Given the description of an element on the screen output the (x, y) to click on. 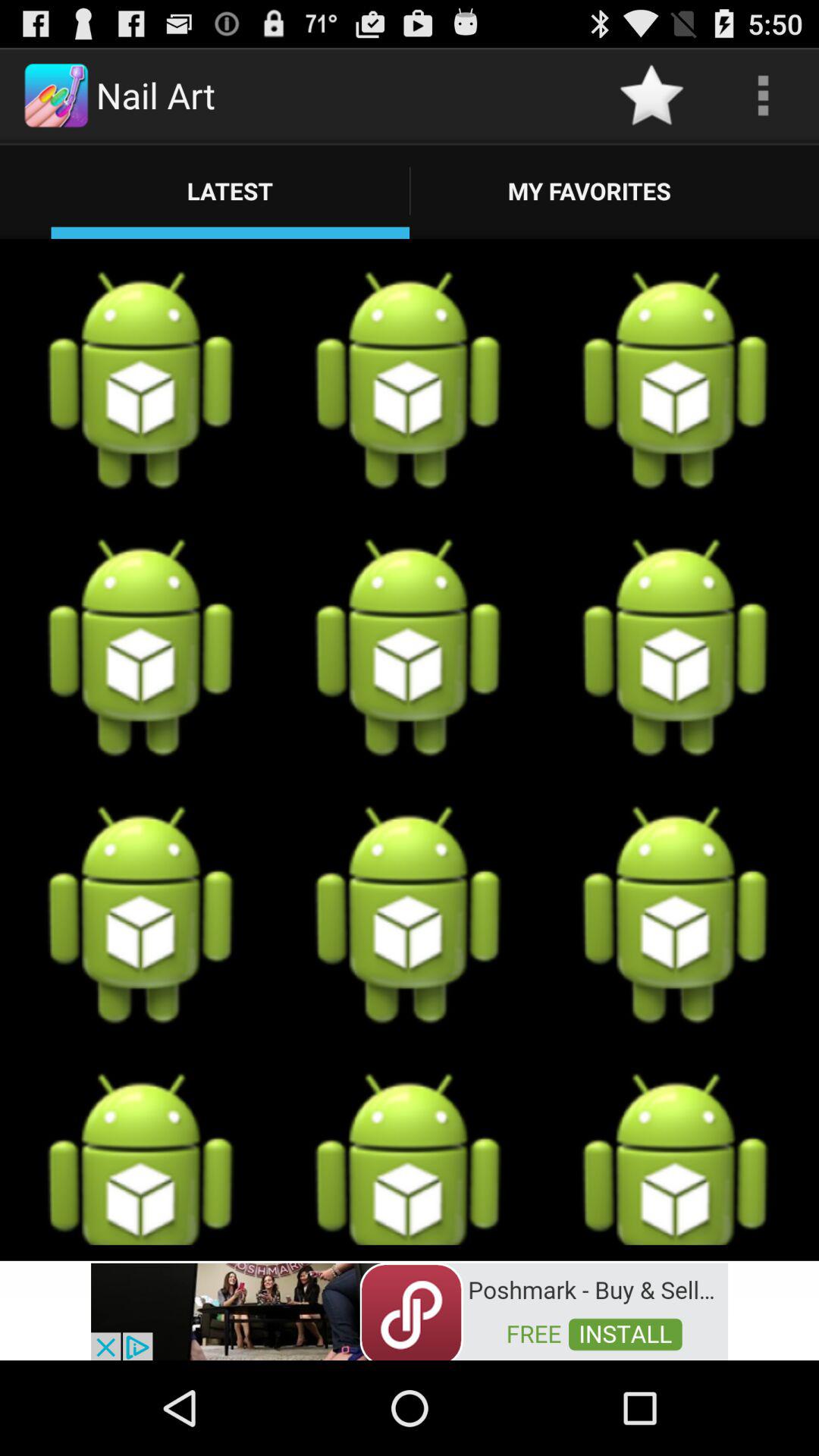
open menu (763, 95)
